Given the description of an element on the screen output the (x, y) to click on. 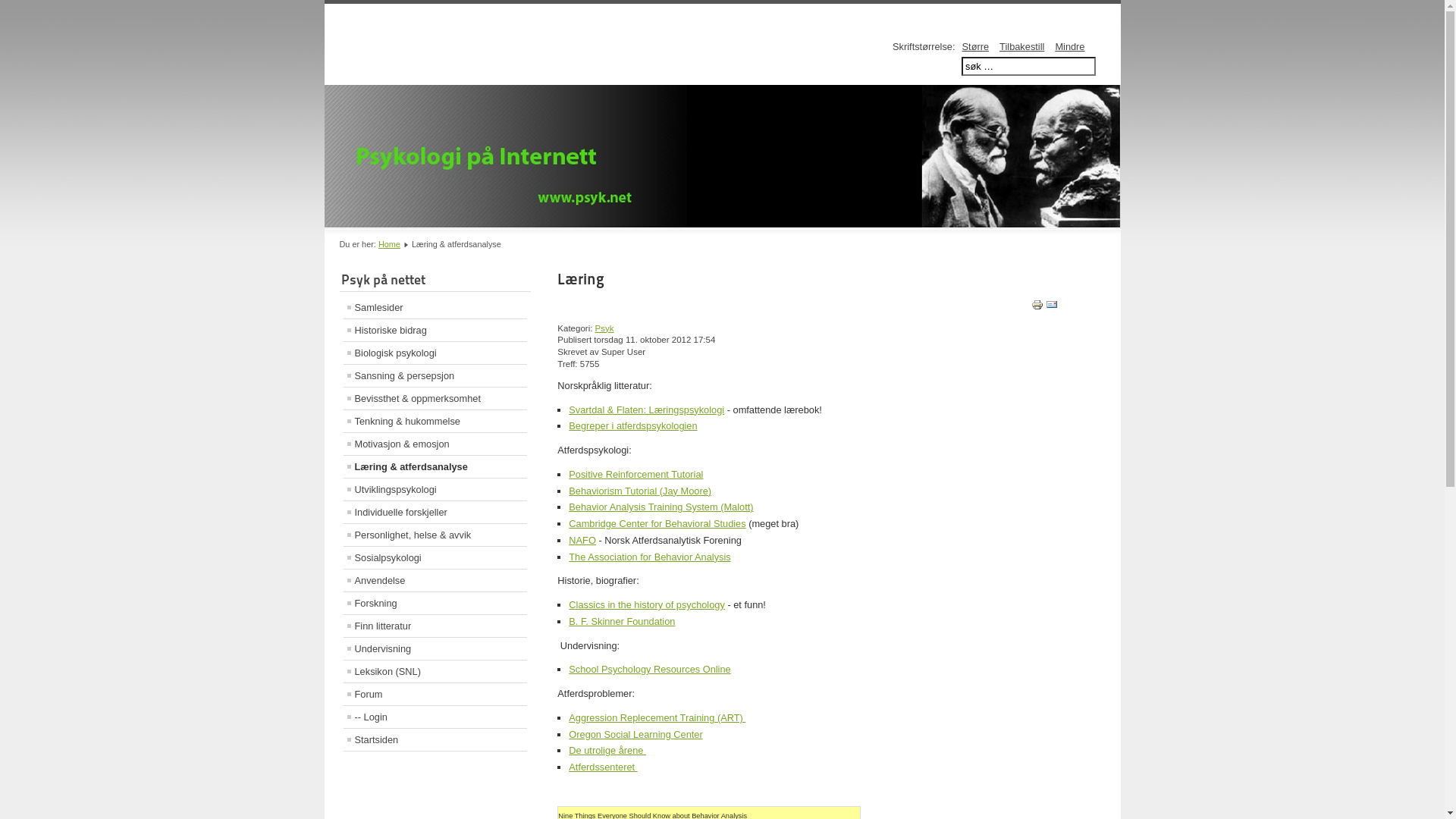
Sosialpsykologi Element type: text (434, 557)
Utskrift Element type: hover (1037, 307)
Aggression Replecement Training (ART)  Element type: text (656, 717)
Cambridge Center for Behavioral Studies Element type: text (656, 523)
Tenkning & hukommelse Element type: text (434, 421)
NAFO Element type: text (582, 540)
Psyk Element type: text (604, 327)
Historiske bidrag Element type: text (434, 330)
Positive Reinforcement Tutorial Element type: text (635, 474)
-- Login Element type: text (434, 717)
Home Element type: text (389, 243)
Behaviorism Tutorial (Jay Moore) Element type: text (639, 490)
Mindre Element type: text (1069, 46)
Utviklingspsykologi Element type: text (434, 489)
B. F. Skinner Foundation Element type: text (621, 621)
Bevissthet & oppmerksomhet Element type: text (434, 398)
Biologisk psykologi Element type: text (434, 353)
Forskning Element type: text (434, 603)
Atferdssenteret  Element type: text (602, 766)
Behavior Analysis Training System (Malott) Element type: text (660, 506)
Anvendelse Element type: text (434, 580)
Startsiden Element type: text (434, 739)
Individuelle forskjeller Element type: text (434, 512)
Forum Element type: text (434, 694)
E-post Element type: hover (1051, 307)
School Psychology Resources Online Element type: text (649, 668)
Samlesider Element type: text (434, 307)
Undervisning Element type: text (434, 648)
Oregon Social Learning Center Element type: text (635, 734)
Leksikon (SNL) Element type: text (434, 671)
Personlighet, helse & avvik Element type: text (434, 535)
Motivasjon & emosjon Element type: text (434, 444)
Classics in the history of psychology Element type: text (646, 604)
Begreper i atferdspsykologien Element type: text (632, 425)
Finn litteratur Element type: text (434, 626)
The Association for Behavior Analysis Element type: text (649, 556)
Sansning & persepsjon Element type: text (434, 375)
Tilbakestill Element type: text (1021, 46)
